Given the description of an element on the screen output the (x, y) to click on. 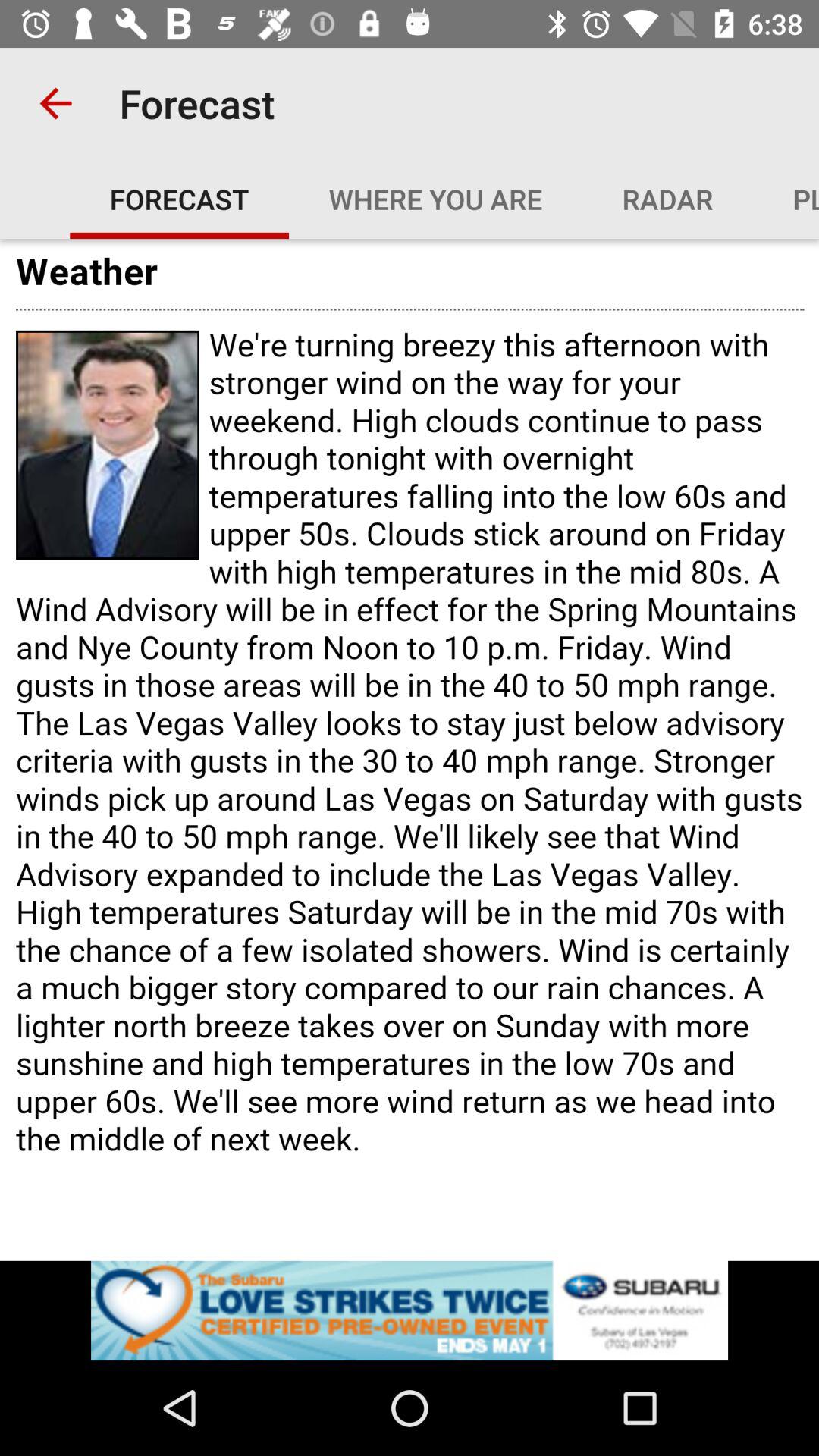
open advertisement for subaru (409, 1310)
